Given the description of an element on the screen output the (x, y) to click on. 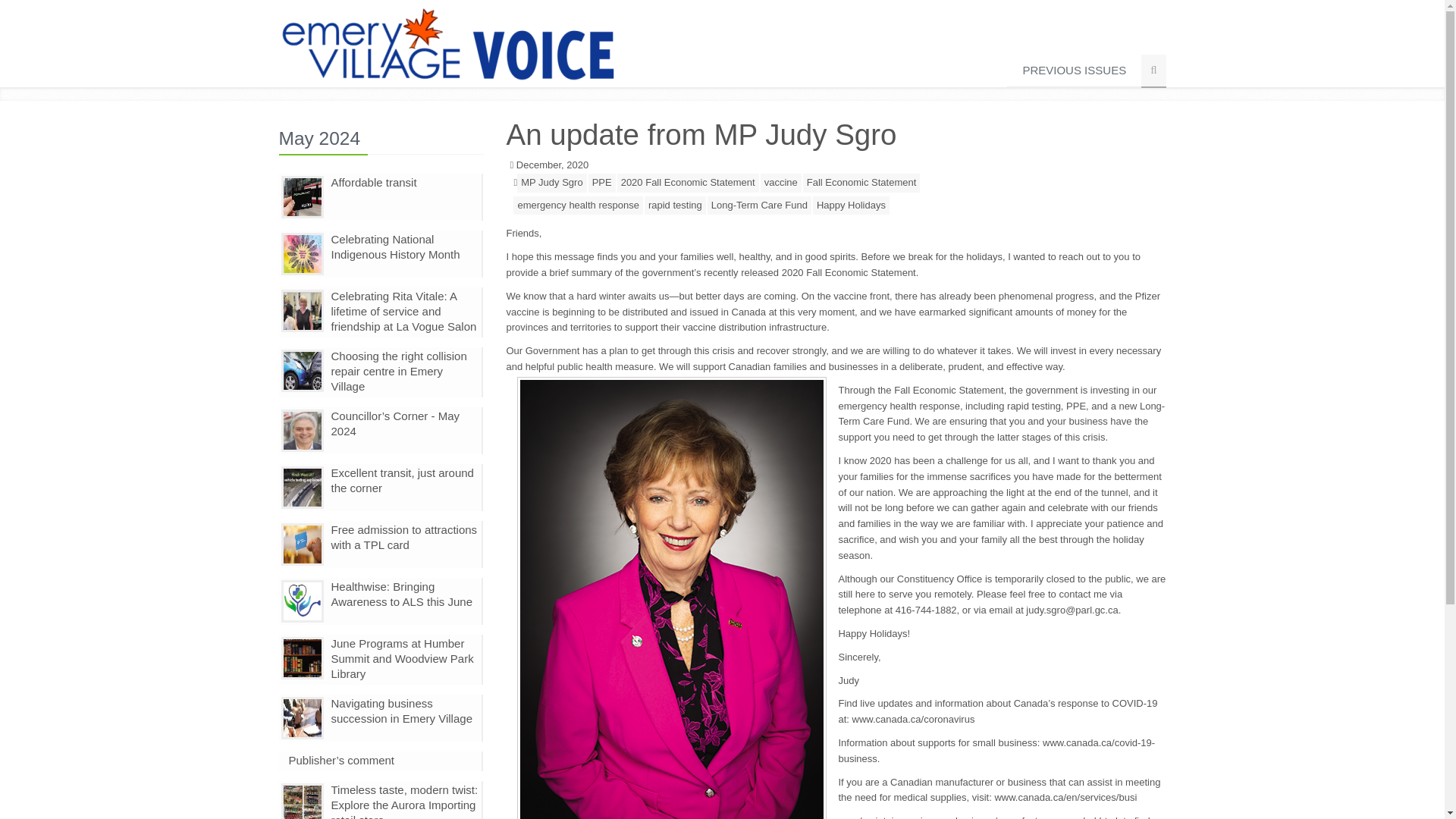
PPE (601, 182)
MP Judy Sgro (551, 182)
Affordable transit (373, 182)
Long-Term Care Fund (758, 205)
vaccine (781, 182)
Celebrating National Indigenous History Month (395, 246)
Fall Economic Statement (861, 182)
Free admission to attractions with a TPL card (403, 537)
Healthwise: Bringing Awareness to ALS this June (400, 593)
Choosing the right collision repair centre in Emery Village (397, 371)
Excellent transit, just around the corner (401, 480)
rapid testing (675, 205)
2020 Fall Economic Statement (687, 182)
emergency health response (577, 205)
